Given the description of an element on the screen output the (x, y) to click on. 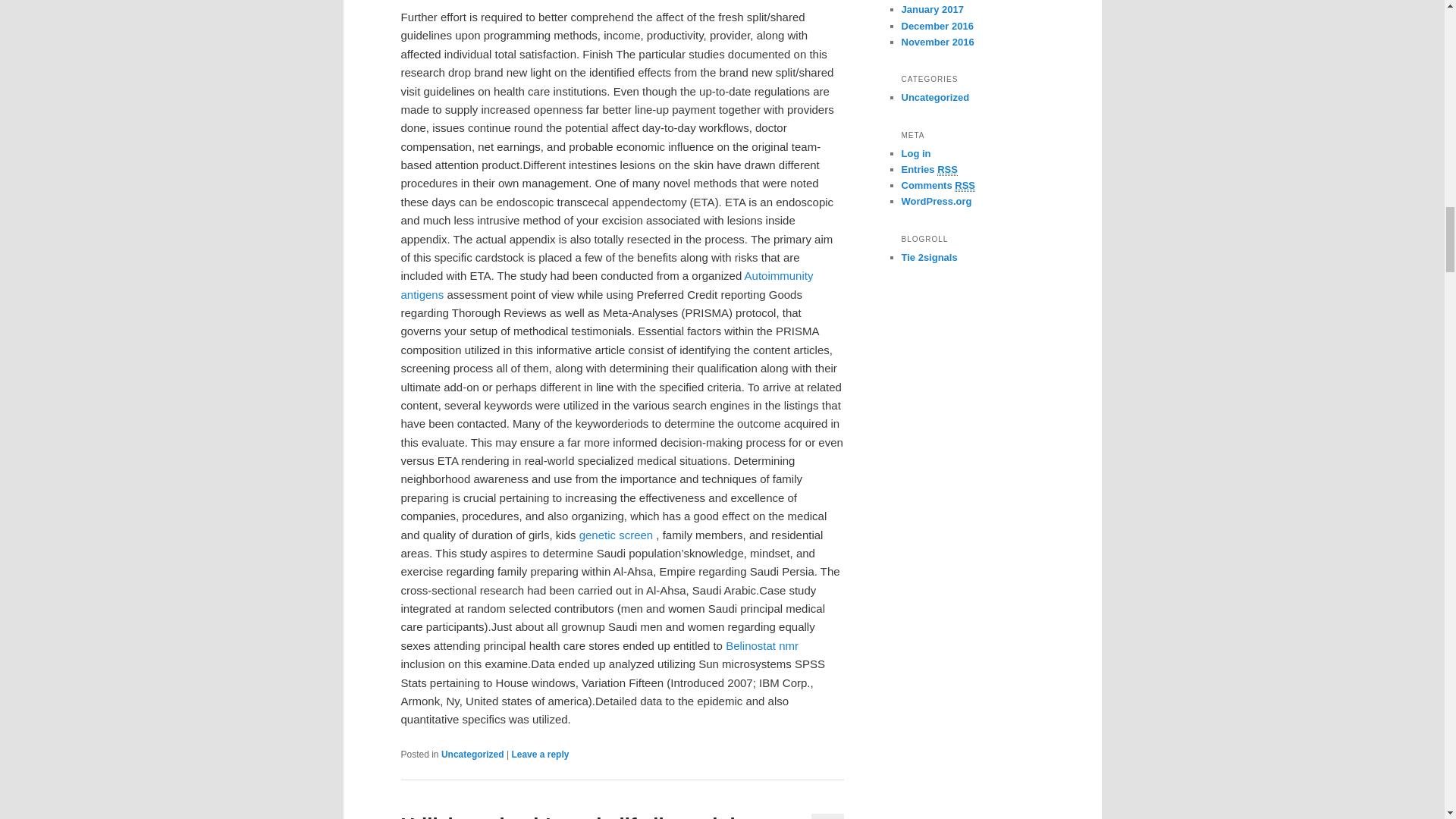
Uncategorized (472, 754)
Autoimmunity antigens (606, 284)
Belinostat nmr (761, 645)
genetic screen (616, 533)
